Given the description of an element on the screen output the (x, y) to click on. 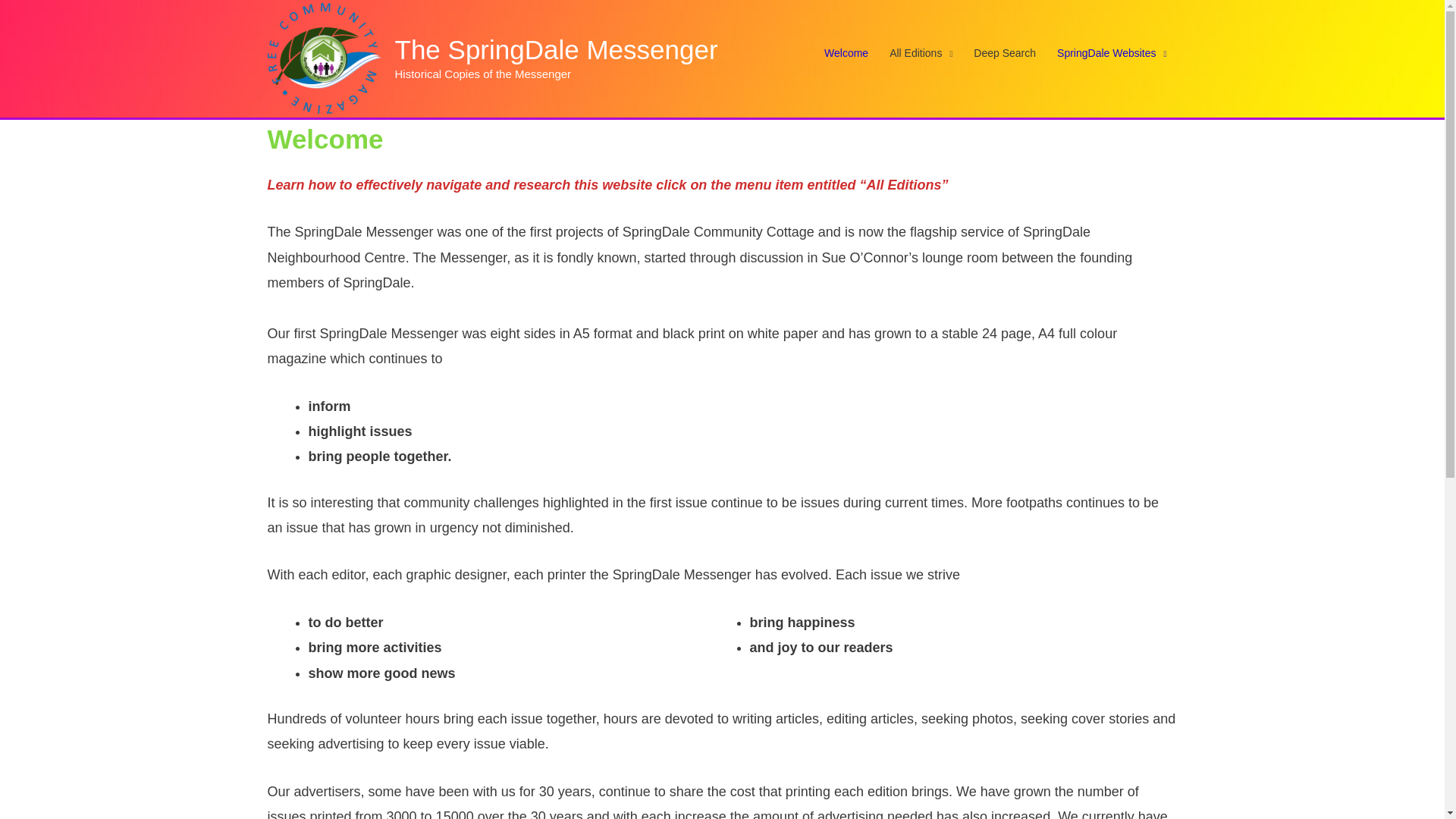
Deep Search Element type: text (1004, 52)
The SpringDale Messenger Element type: text (555, 49)
Welcome Element type: text (845, 52)
SpringDale Websites Element type: text (1111, 52)
All Editions Element type: text (920, 52)
